Given the description of an element on the screen output the (x, y) to click on. 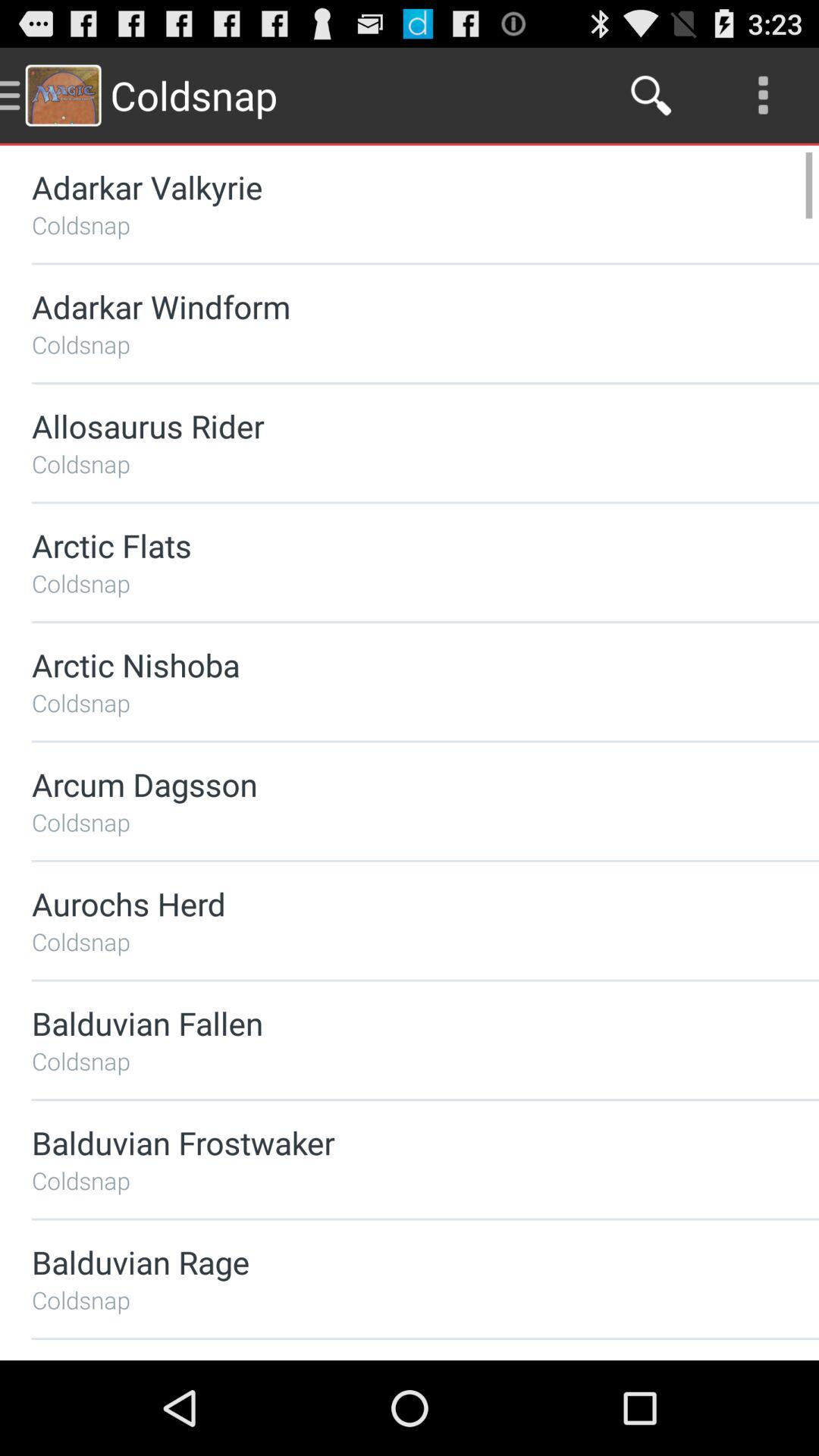
jump until the balduvian rage item (385, 1261)
